Given the description of an element on the screen output the (x, y) to click on. 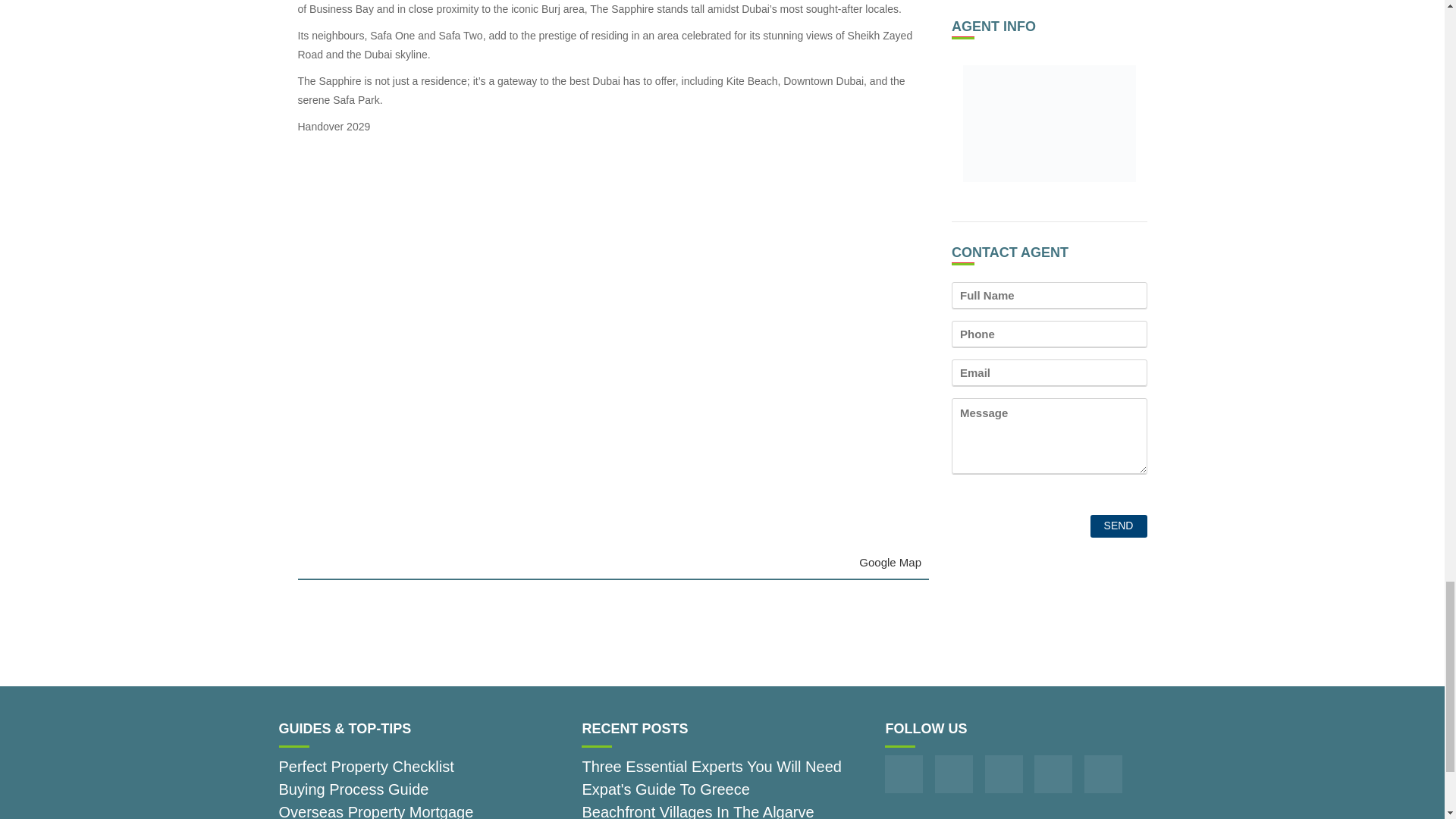
Twitter (1052, 774)
Facebook (904, 774)
Instagram (953, 774)
Google Map (889, 562)
Send (1118, 526)
Linkedin (1103, 774)
Pinterest (1004, 774)
